Given the description of an element on the screen output the (x, y) to click on. 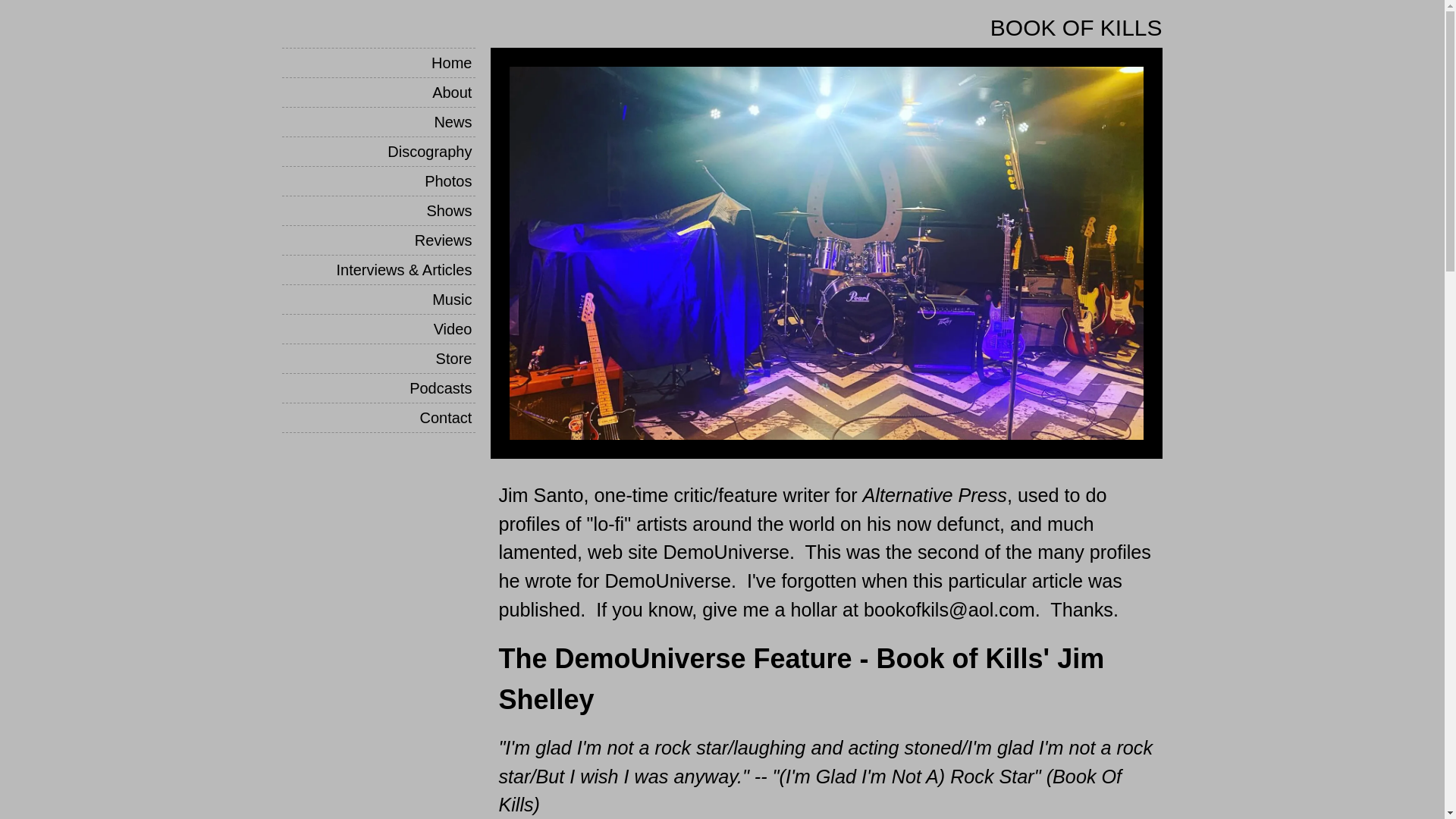
Shows (378, 210)
Discography (378, 151)
Contact (378, 417)
Video (378, 328)
News (378, 121)
Home (378, 62)
Music (378, 299)
Podcasts (378, 387)
Store (378, 358)
Reviews (378, 240)
